Given the description of an element on the screen output the (x, y) to click on. 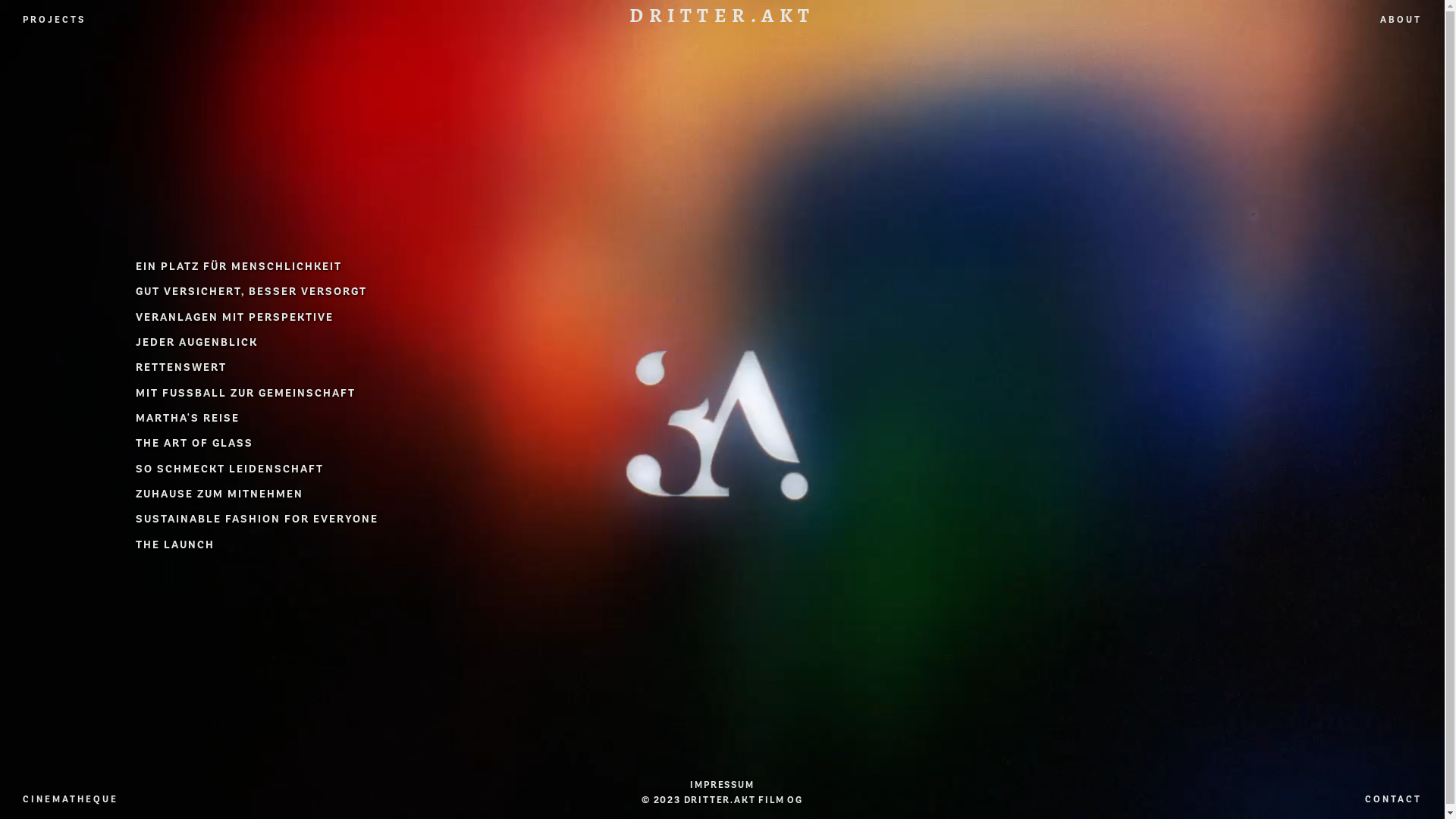
MARTHA'S REISE Element type: text (187, 417)
THE LAUNCH Element type: text (174, 544)
RETTENSWERT Element type: text (180, 366)
CONTACT Element type: text (1393, 798)
PROJECTS Element type: text (53, 19)
ZUHAUSE ZUM MITNEHMEN Element type: text (219, 493)
GUT VERSICHERT, BESSER VERSORGT Element type: text (251, 291)
SO SCHMECKT LEIDENSCHAFT Element type: text (229, 468)
IMPRESSUM Element type: text (721, 784)
JEDER AUGENBLICK Element type: text (196, 341)
ABOUT Element type: text (1400, 19)
VERANLAGEN MIT PERSPEKTIVE Element type: text (234, 316)
THE ART OF GLASS Element type: text (194, 442)
CINEMATHEQUE Element type: text (70, 798)
MIT FUSSBALL ZUR GEMEINSCHAFT Element type: text (245, 392)
SUSTAINABLE FASHION FOR EVERYONE Element type: text (256, 518)
DRITTER.AKT Element type: text (722, 17)
